Given the description of an element on the screen output the (x, y) to click on. 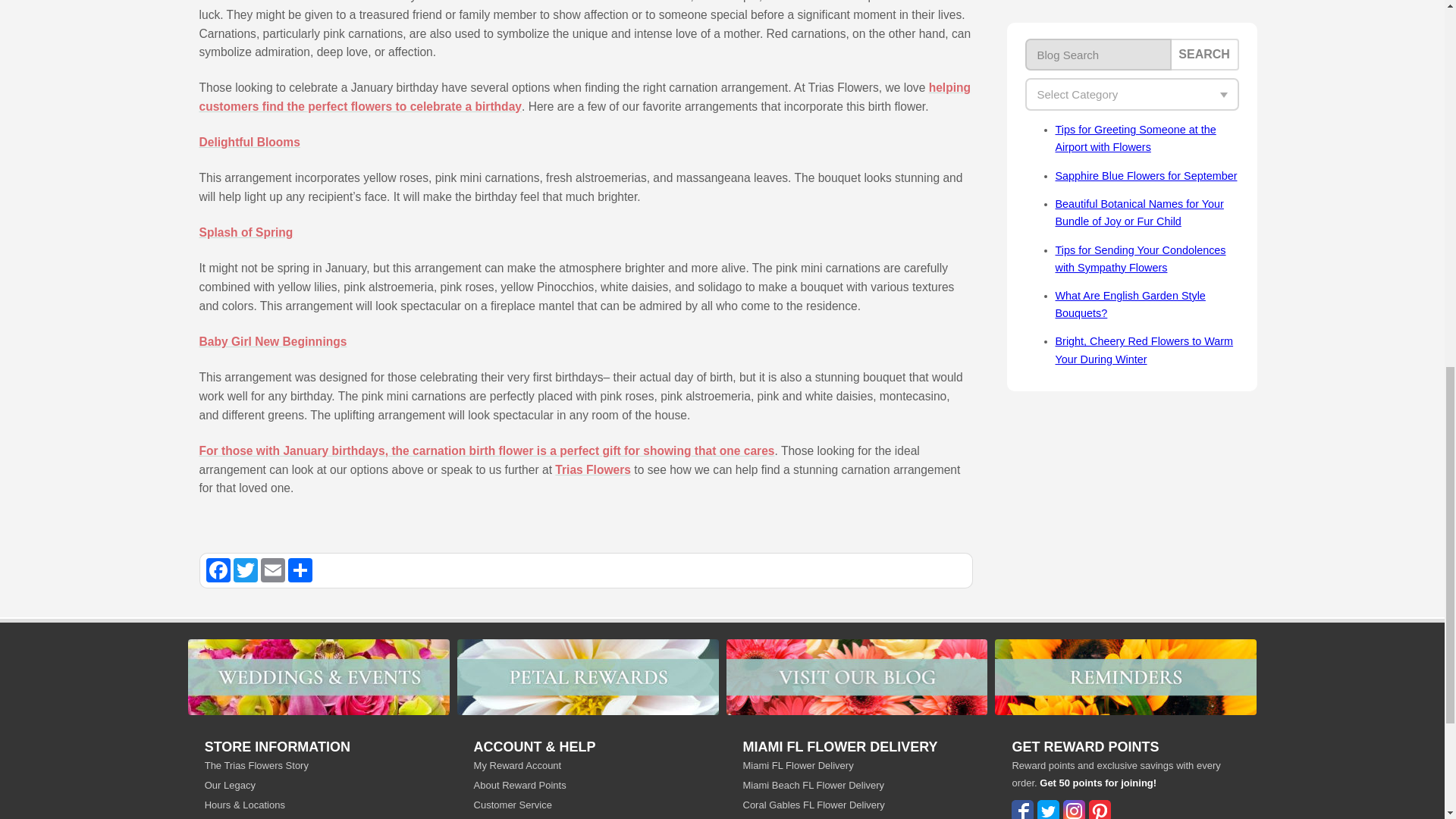
Email (272, 569)
Share (300, 569)
Email (272, 569)
Splash of Spring (245, 232)
Facebook (218, 569)
Trias Flowers (592, 469)
Twitter (245, 569)
Facebook (218, 569)
Baby Girl New Beginnings (272, 341)
Delightful Blooms (248, 141)
The Trias Flowers Story (318, 764)
Twitter (245, 569)
